Given the description of an element on the screen output the (x, y) to click on. 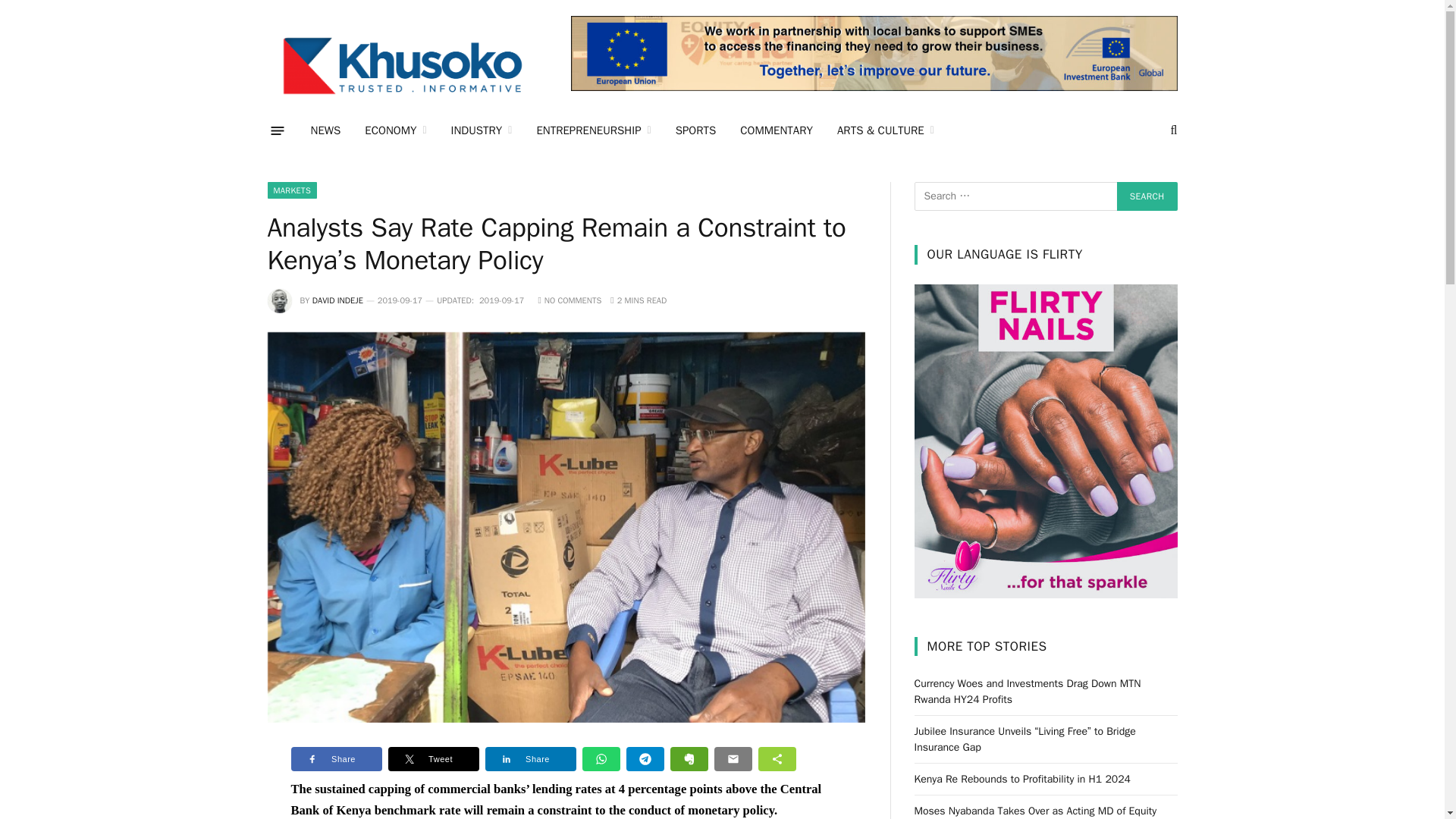
ENTREPRENEURSHIP (593, 129)
SPORTS (696, 129)
Posts by David Indeje (337, 299)
Search (1146, 195)
DAVID INDEJE (337, 299)
Search (1146, 195)
ECONOMY (395, 129)
NEWS (325, 129)
INDUSTRY (481, 129)
MARKETS (291, 190)
